Given the description of an element on the screen output the (x, y) to click on. 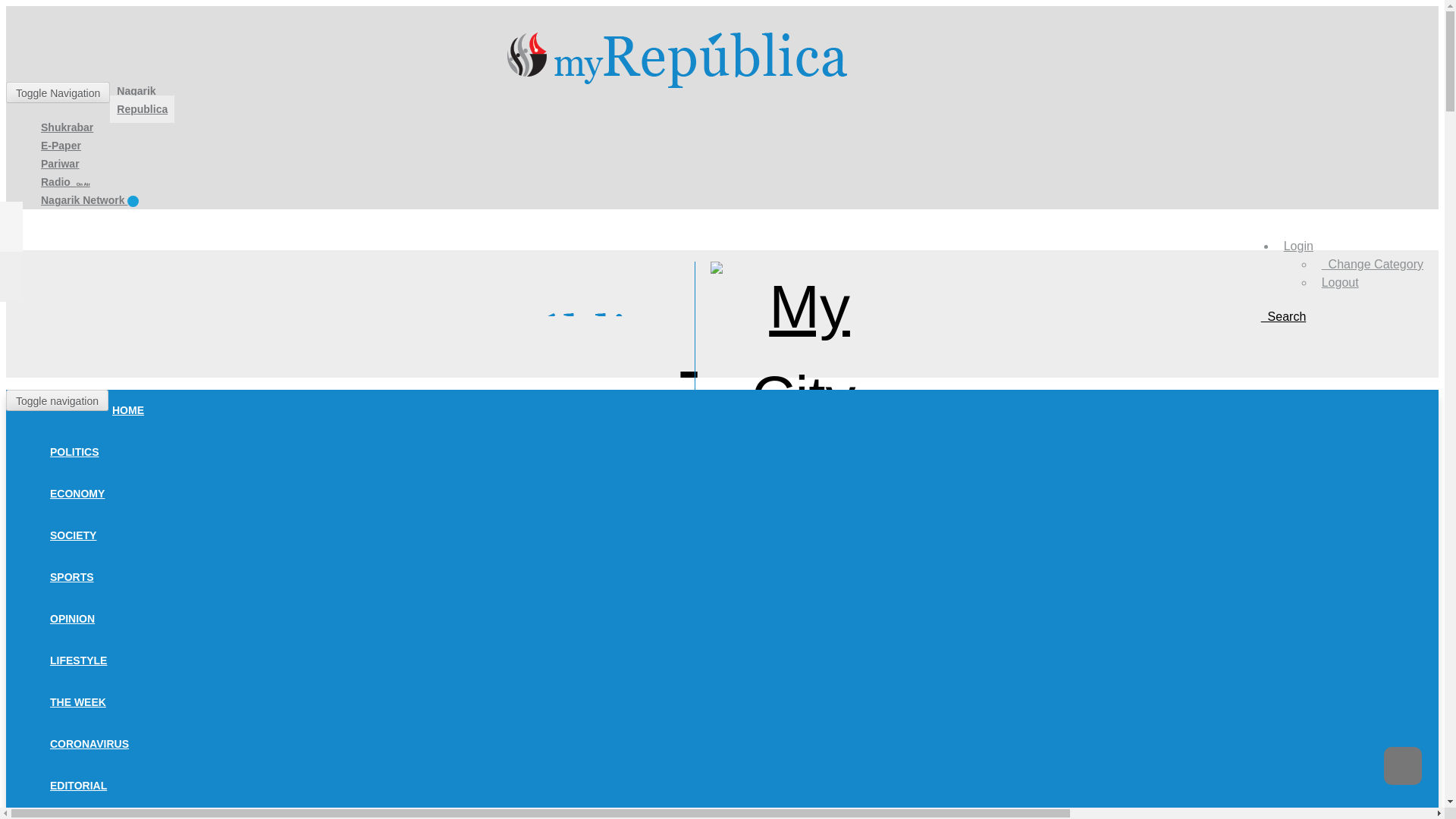
SOCIETY (73, 535)
Pariwar (59, 163)
Login (1298, 245)
OPINION (72, 618)
Nagarik Network  (89, 199)
Logout (1340, 282)
  Search (1283, 316)
E-Paper (60, 144)
  Change Category (1372, 264)
Republica (142, 108)
